Given the description of an element on the screen output the (x, y) to click on. 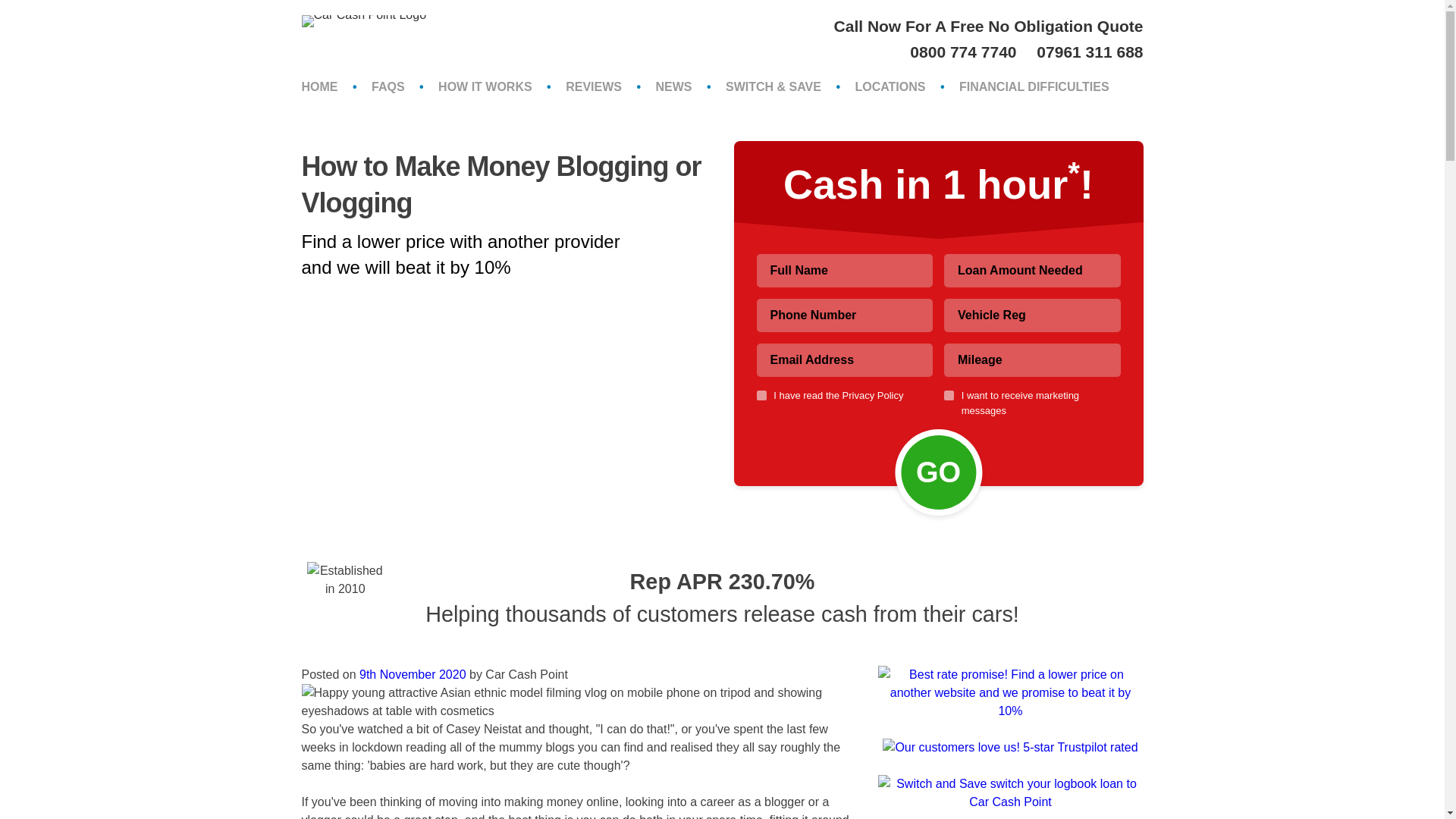
View our Trustpilot 5-star rating (1009, 747)
Privacy Policy (873, 395)
HOME (319, 86)
HOW IT WORKS (484, 86)
0800 774 7740 (965, 51)
LOCATIONS (889, 86)
FAQS (387, 86)
07961 311 688 (1089, 51)
GO (938, 472)
NEWS (673, 86)
9th November 2020 (412, 674)
FINANCIAL DIFFICULTIES (1034, 86)
REVIEWS (593, 86)
